Given the description of an element on the screen output the (x, y) to click on. 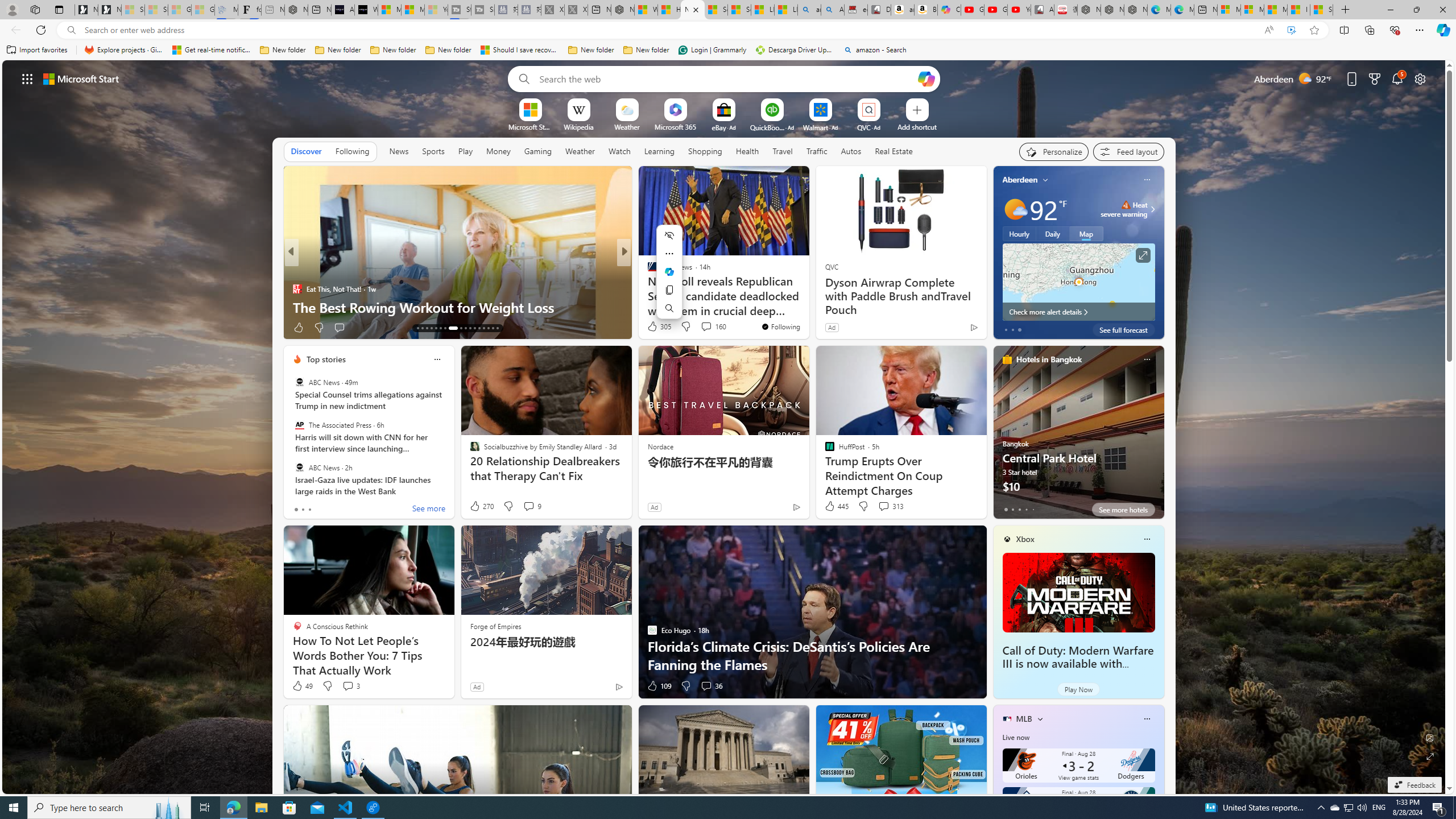
Ask Copilot (668, 271)
View comments 36 Comment (710, 685)
AutomationID: tab-20 (450, 328)
Forge of Empires (495, 625)
Workspaces (34, 9)
View comments 107 Comment (709, 327)
tab-3 (1025, 509)
Microsoft account | Privacy (1252, 9)
445 Like (835, 505)
Liron Segev (647, 288)
View comments 3 Comment (350, 685)
Read aloud this page (Ctrl+Shift+U) (1268, 29)
Hourly (1018, 233)
Play (465, 151)
